Given the description of an element on the screen output the (x, y) to click on. 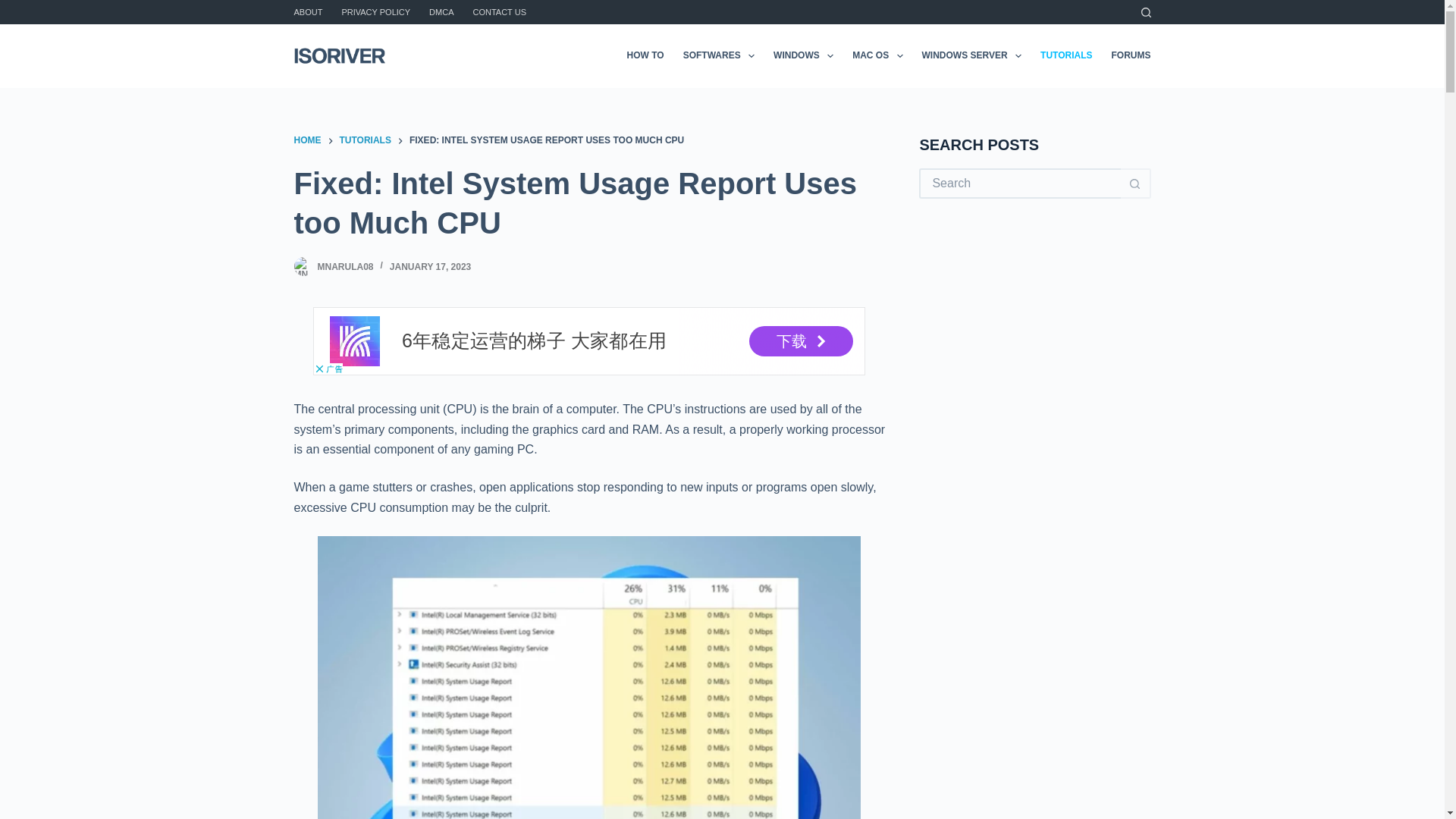
Fixed: Intel System Usage Report Uses too Much CPU (589, 202)
Posts by mnarula08 (344, 266)
Advertisement (588, 341)
Skip to content (15, 7)
